Given the description of an element on the screen output the (x, y) to click on. 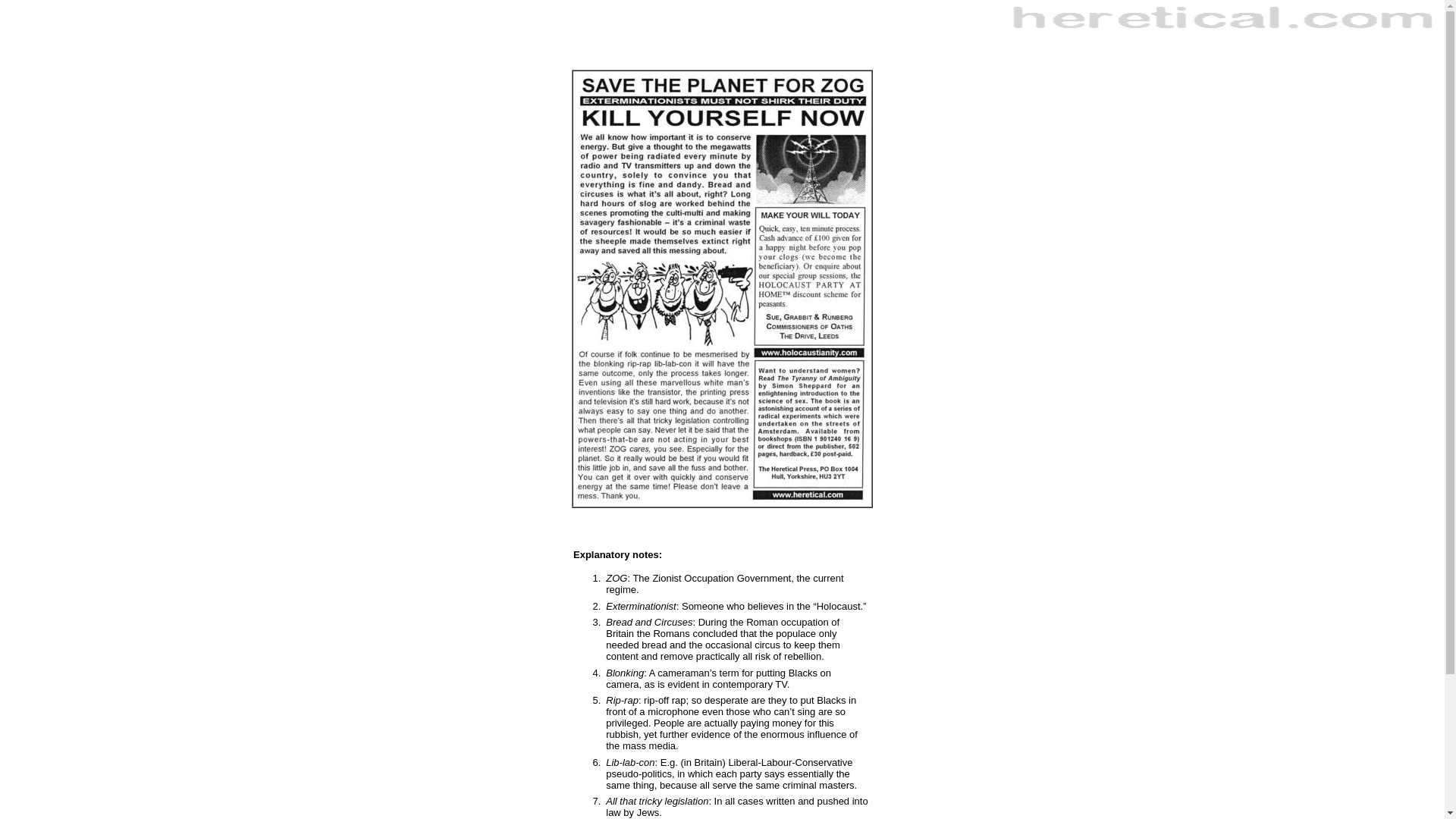
The race that loses control of its women becomes extinct (1223, 16)
